Given the description of an element on the screen output the (x, y) to click on. 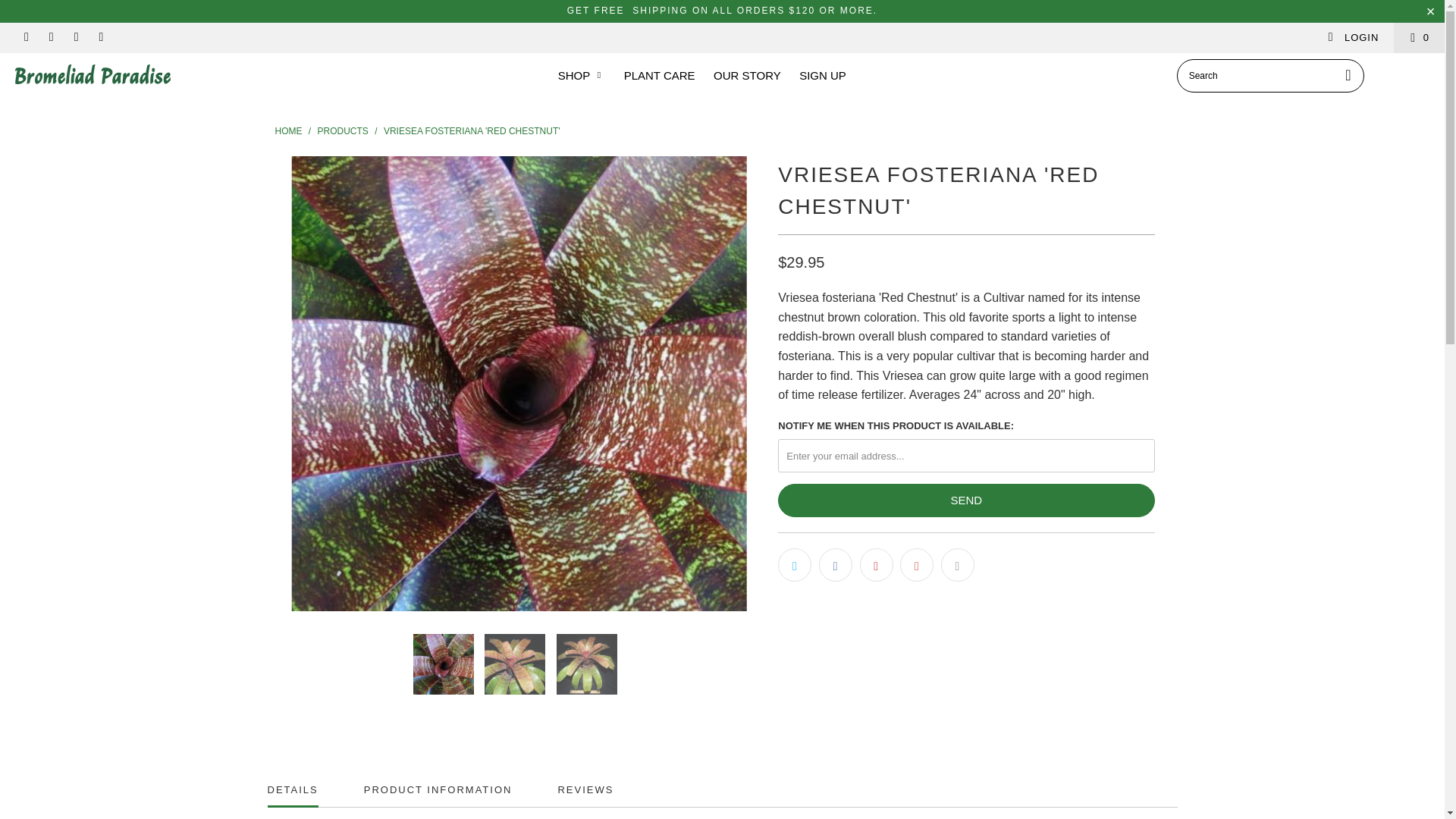
Share this on Pinterest (876, 564)
My Account  (1352, 37)
Send (965, 500)
Share this on Facebook (834, 564)
Products (344, 131)
Bromeliad Paradise on Instagram (75, 37)
Bromeliad Paradise (288, 131)
Share this on Twitter (793, 564)
Email Bromeliad Paradise (100, 37)
Bromeliad Paradise on Pinterest (50, 37)
Email this to a friend (957, 564)
Bromeliad Paradise on Facebook (25, 37)
Bromeliad Paradise (122, 74)
